Given the description of an element on the screen output the (x, y) to click on. 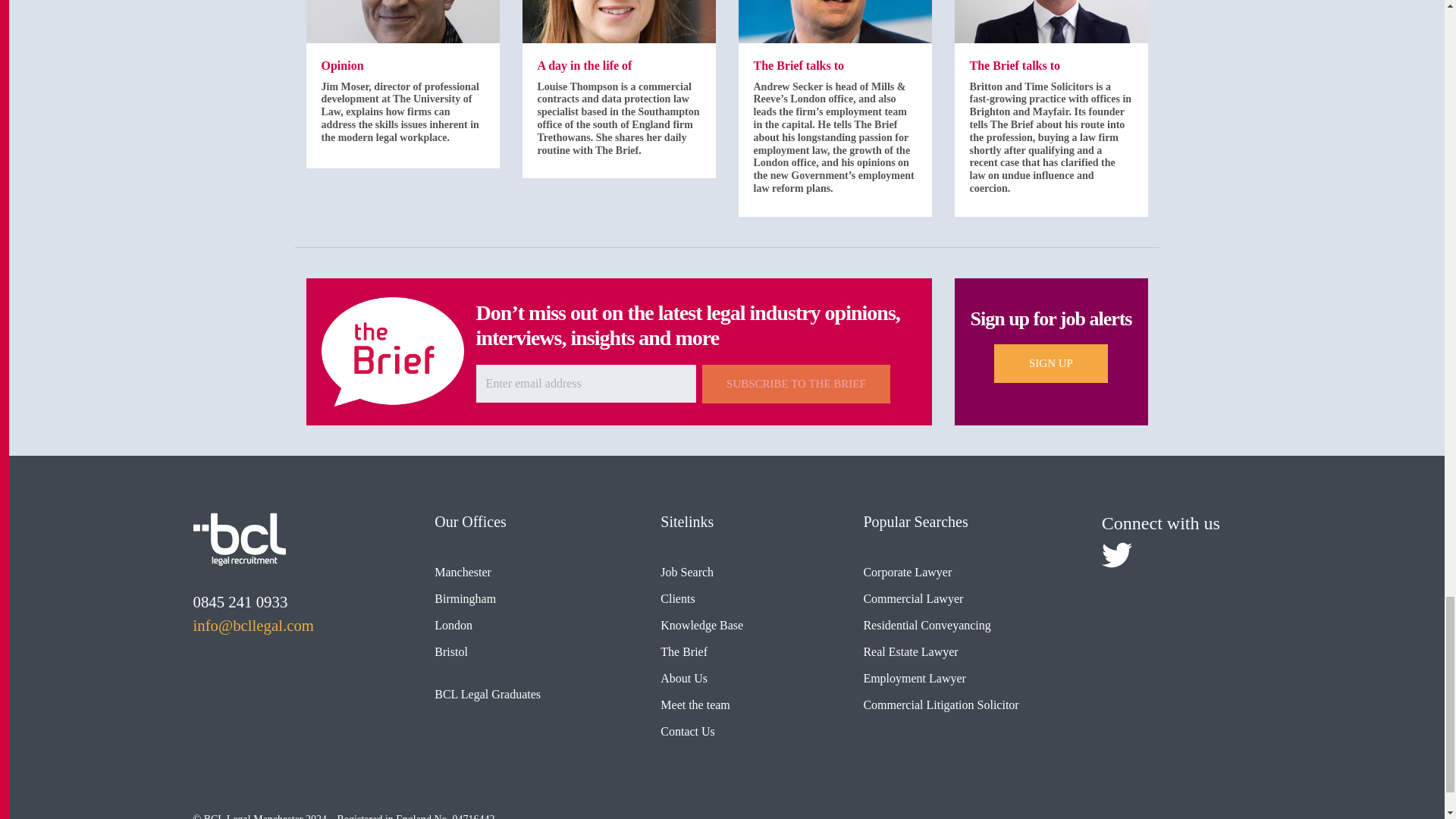
BCL Legal Recruitment (238, 538)
BCL Legal on Instagram (1207, 554)
BCL Legal on Twitter (1117, 554)
BCL Legal on LinkedIn (1162, 554)
